Given the description of an element on the screen output the (x, y) to click on. 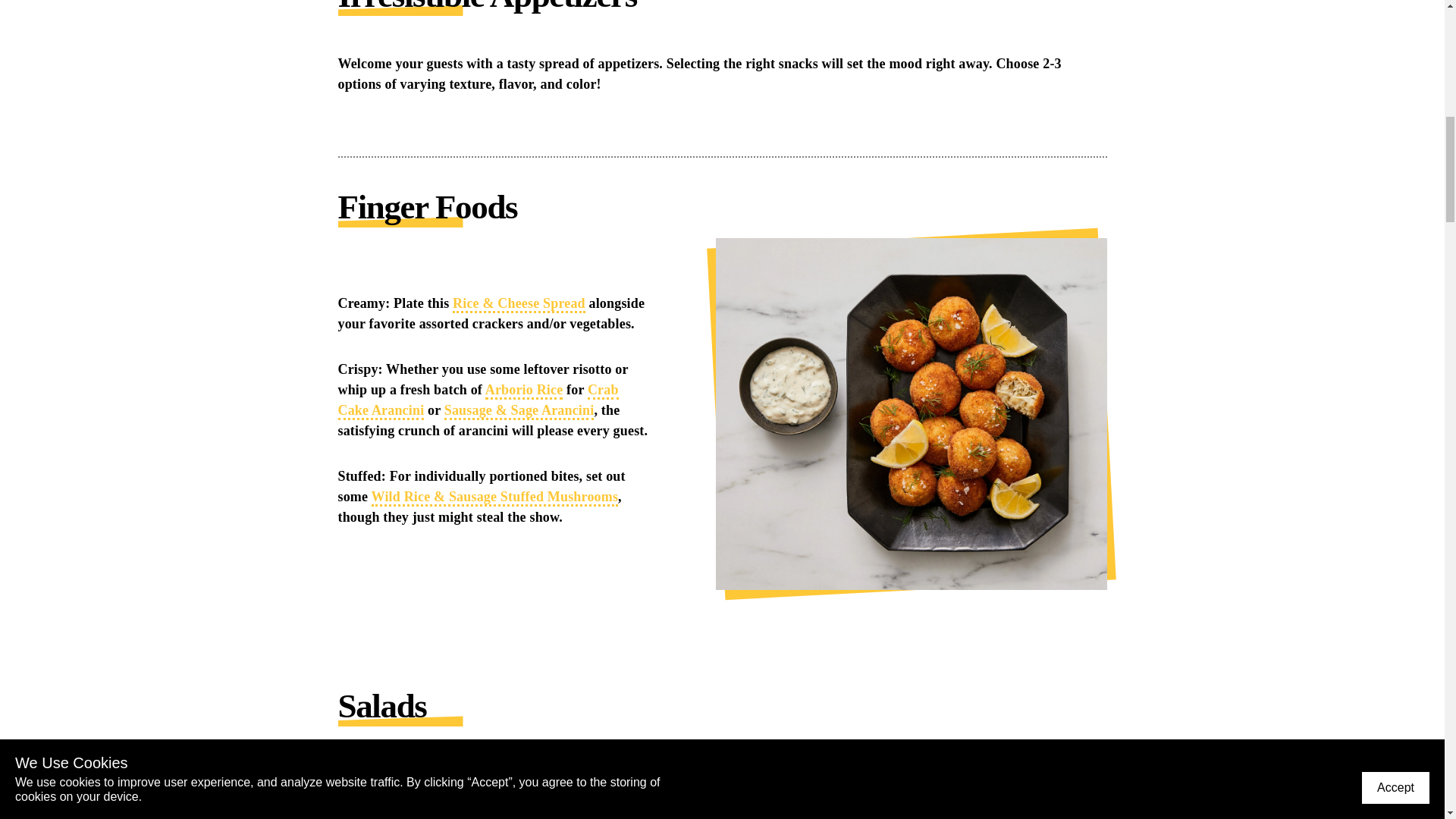
Crab Cake Arancini (477, 401)
Arborio Rice (523, 390)
